Given the description of an element on the screen output the (x, y) to click on. 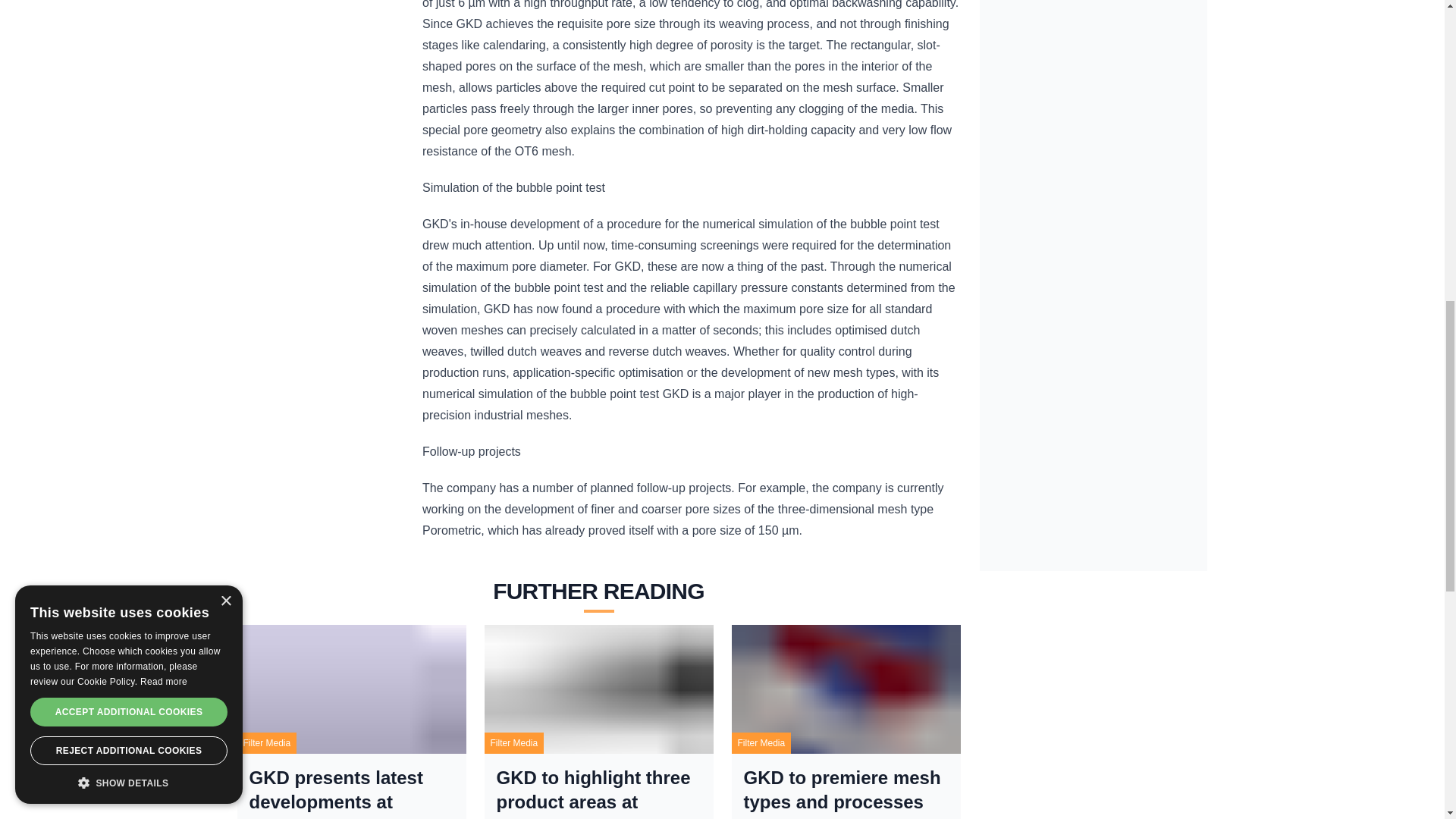
3rd party ad content (1093, 104)
